Given the description of an element on the screen output the (x, y) to click on. 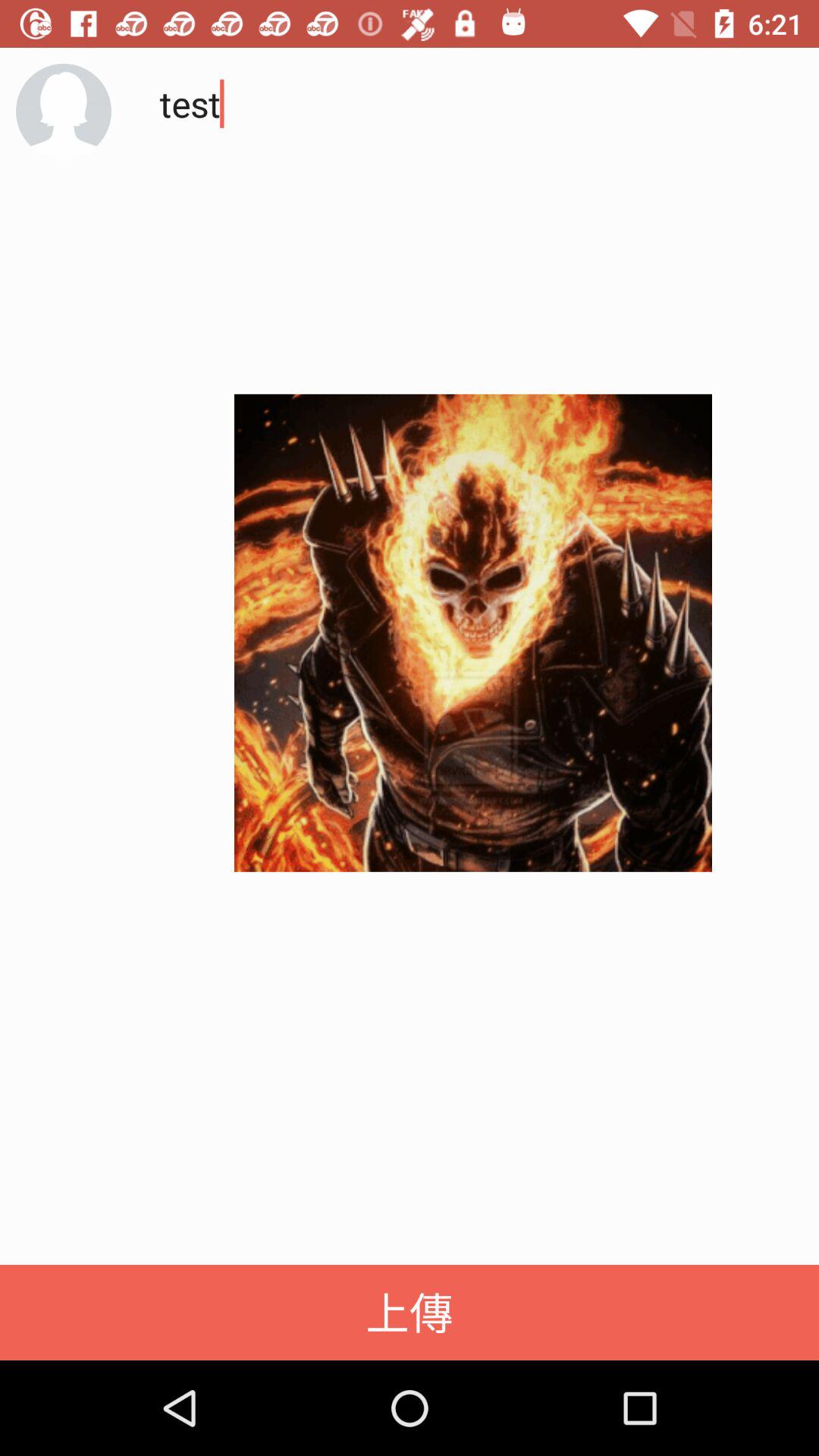
flip to the test (466, 212)
